Given the description of an element on the screen output the (x, y) to click on. 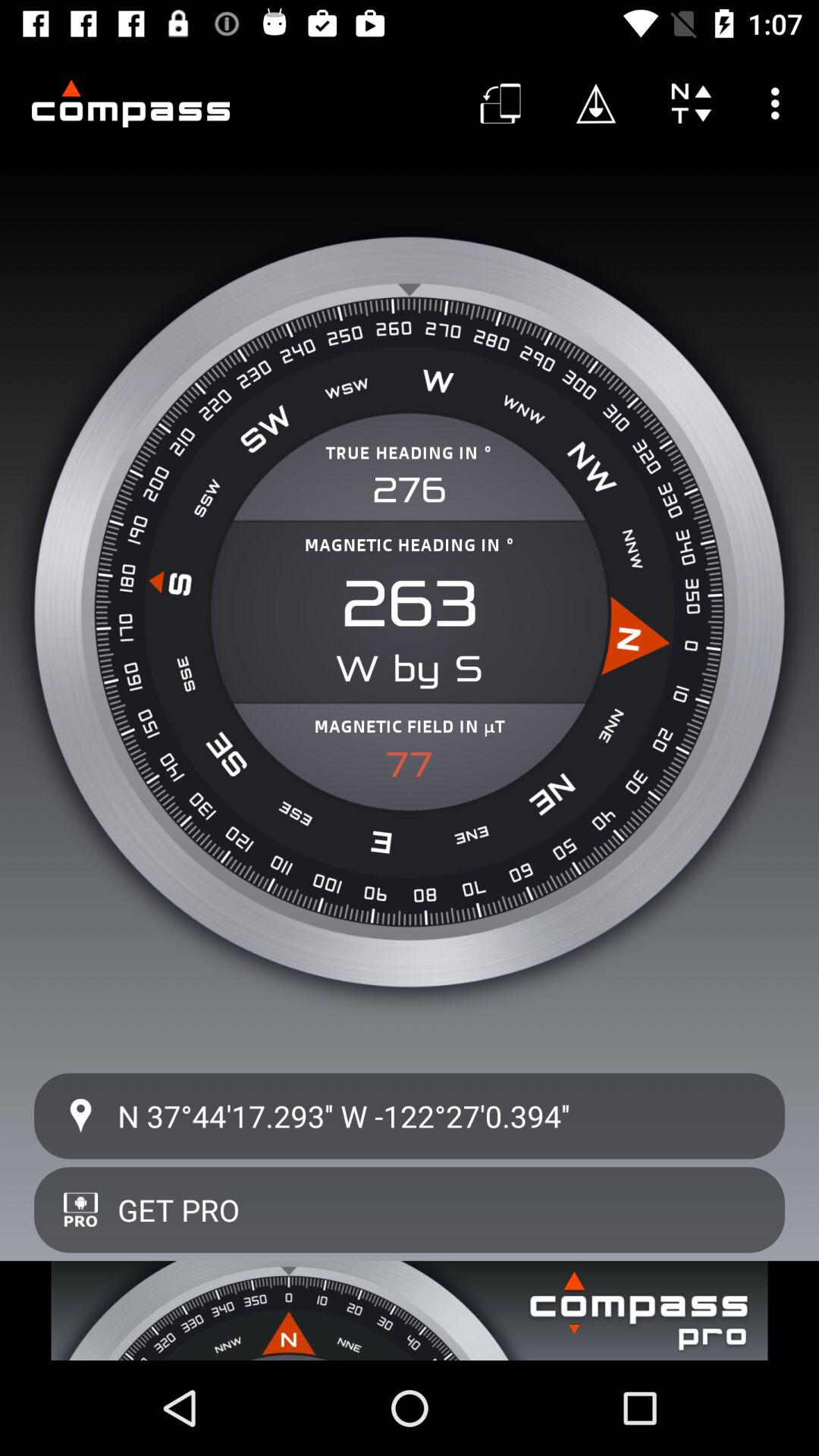
turn off the 276 icon (409, 490)
